Given the description of an element on the screen output the (x, y) to click on. 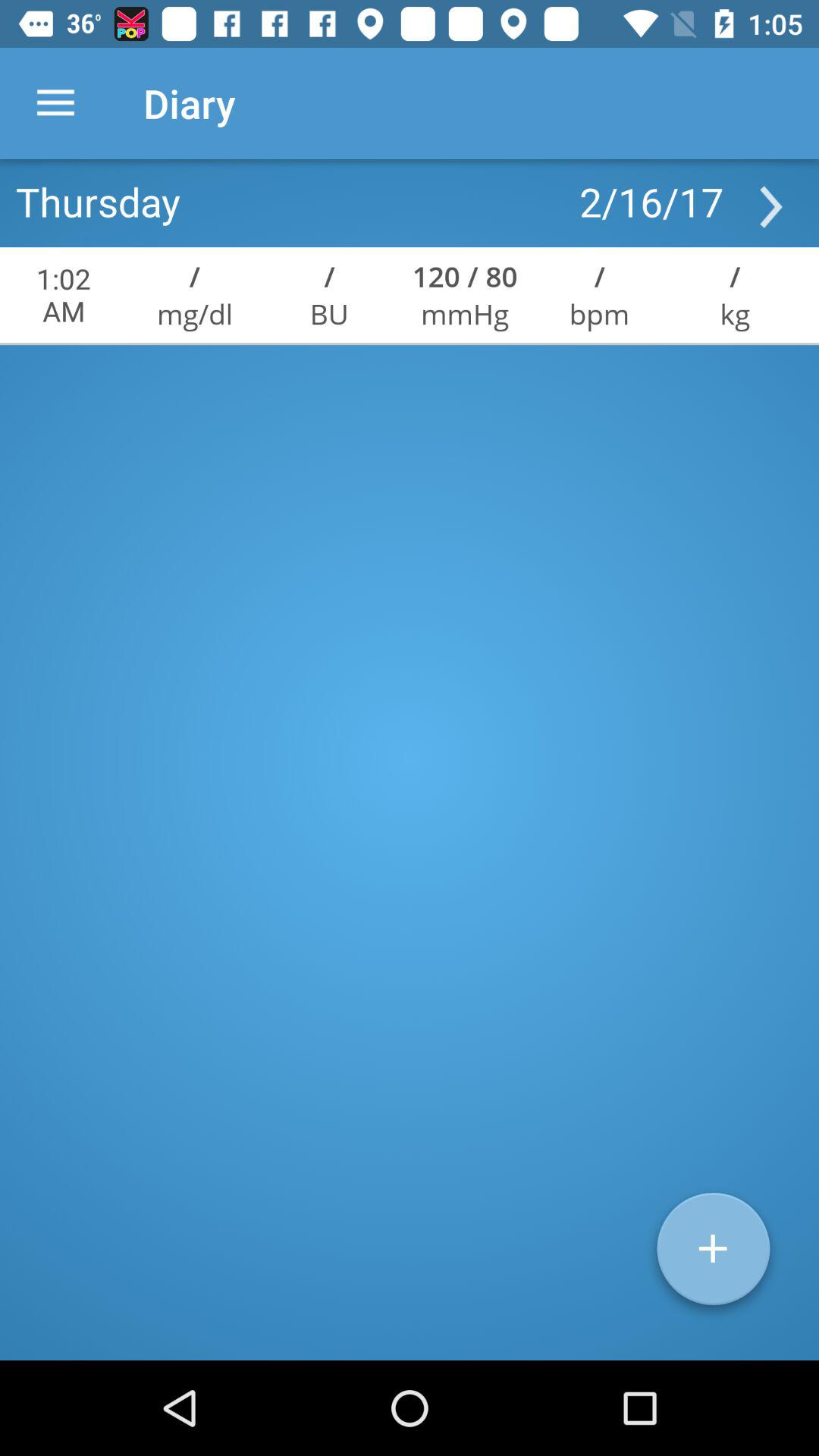
press the mmhg icon (464, 313)
